Given the description of an element on the screen output the (x, y) to click on. 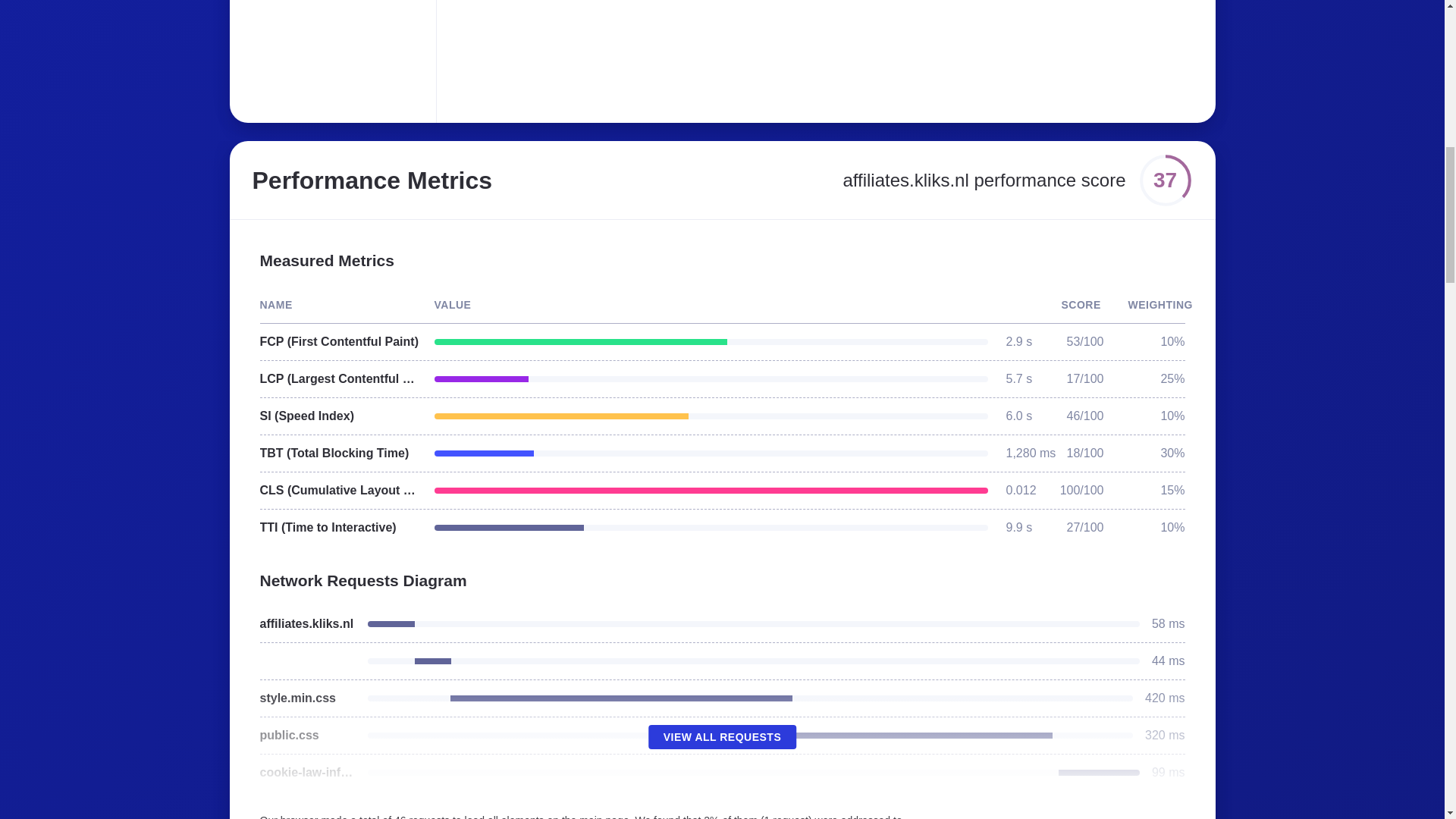
VIEW ALL REQUESTS (721, 736)
Advertisement (686, 52)
